Given the description of an element on the screen output the (x, y) to click on. 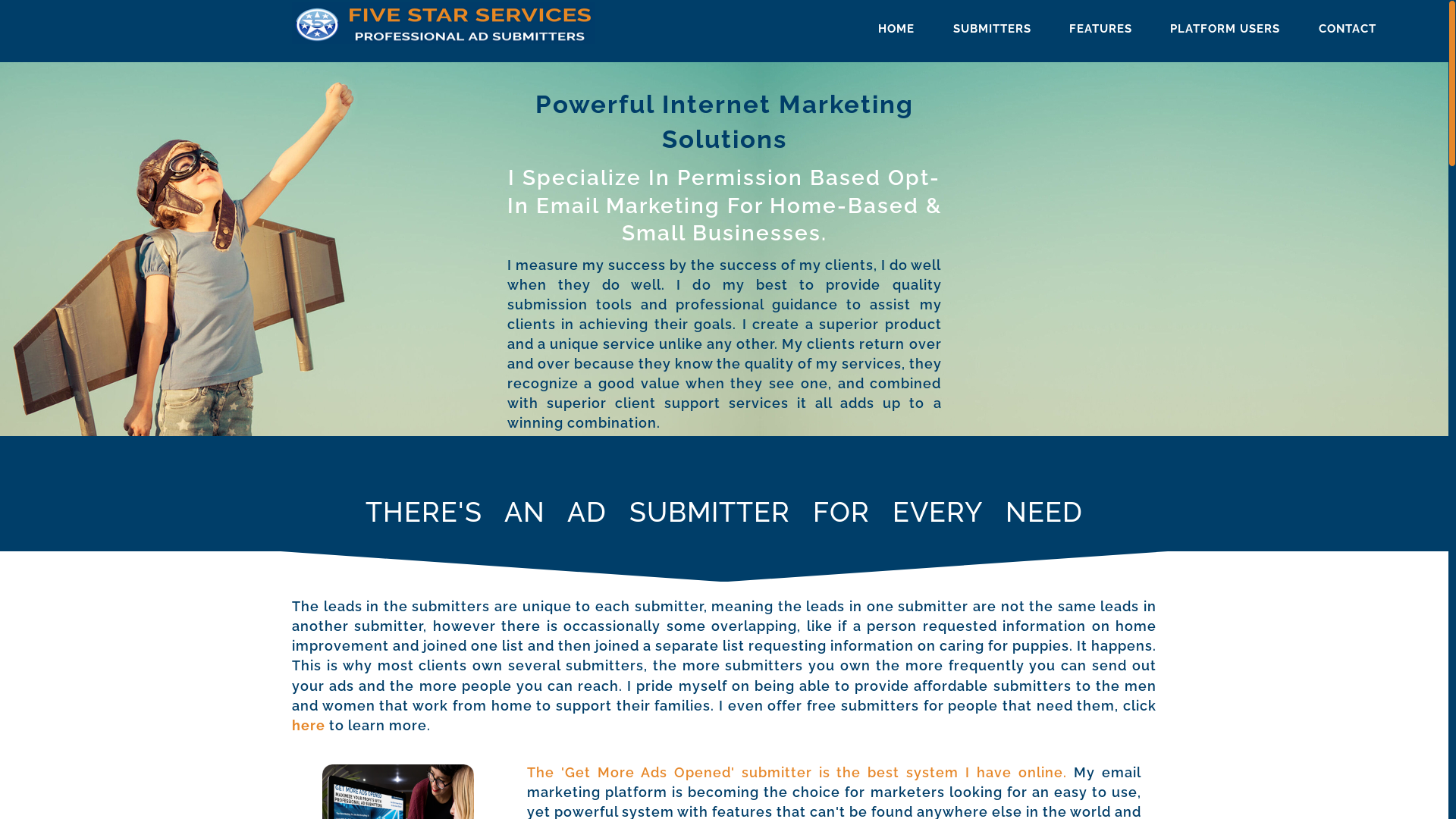
CONTACT Element type: text (1347, 28)
SUBMITTERS Element type: text (992, 28)
PLATFORM USERS Element type: text (1225, 28)
FEATURES Element type: text (1100, 28)
here Element type: text (308, 725)
HOME Element type: text (896, 28)
